Given the description of an element on the screen output the (x, y) to click on. 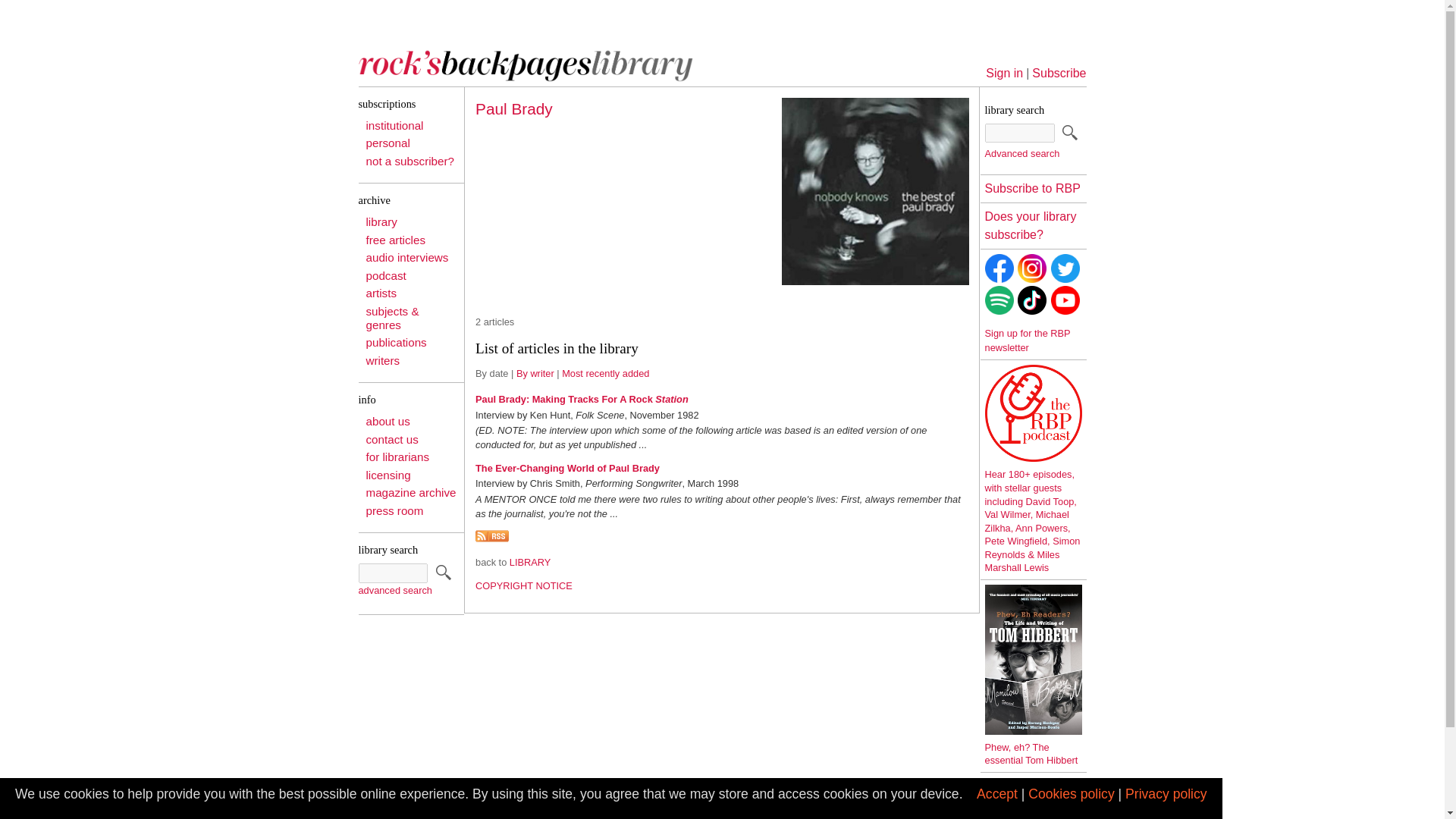
Privacy policy (1166, 793)
podcast (385, 275)
free articles (395, 239)
Subscribe (1059, 72)
personal (387, 142)
audio interviews (406, 256)
Accept (996, 793)
institutional (394, 124)
library (380, 221)
Sign in (1004, 72)
not a subscriber? (409, 160)
Cookies policy (1070, 793)
